Given the description of an element on the screen output the (x, y) to click on. 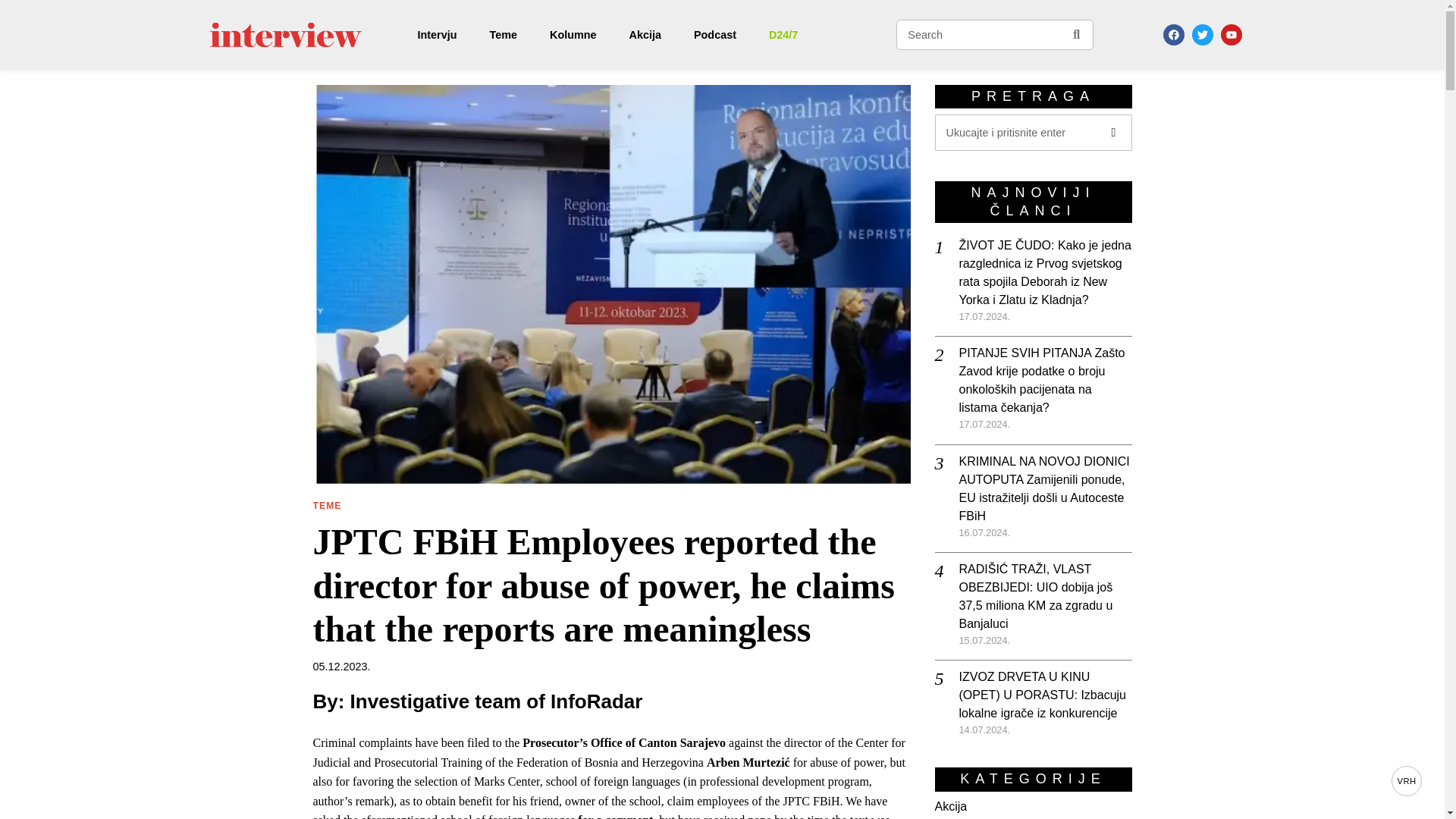
Kolumne (574, 35)
Teme (504, 35)
Intervju (437, 35)
VRH (1406, 780)
logo-interview-red (285, 34)
Akcija (646, 35)
TEME (326, 506)
Podcast (716, 35)
Go (1076, 34)
